Given the description of an element on the screen output the (x, y) to click on. 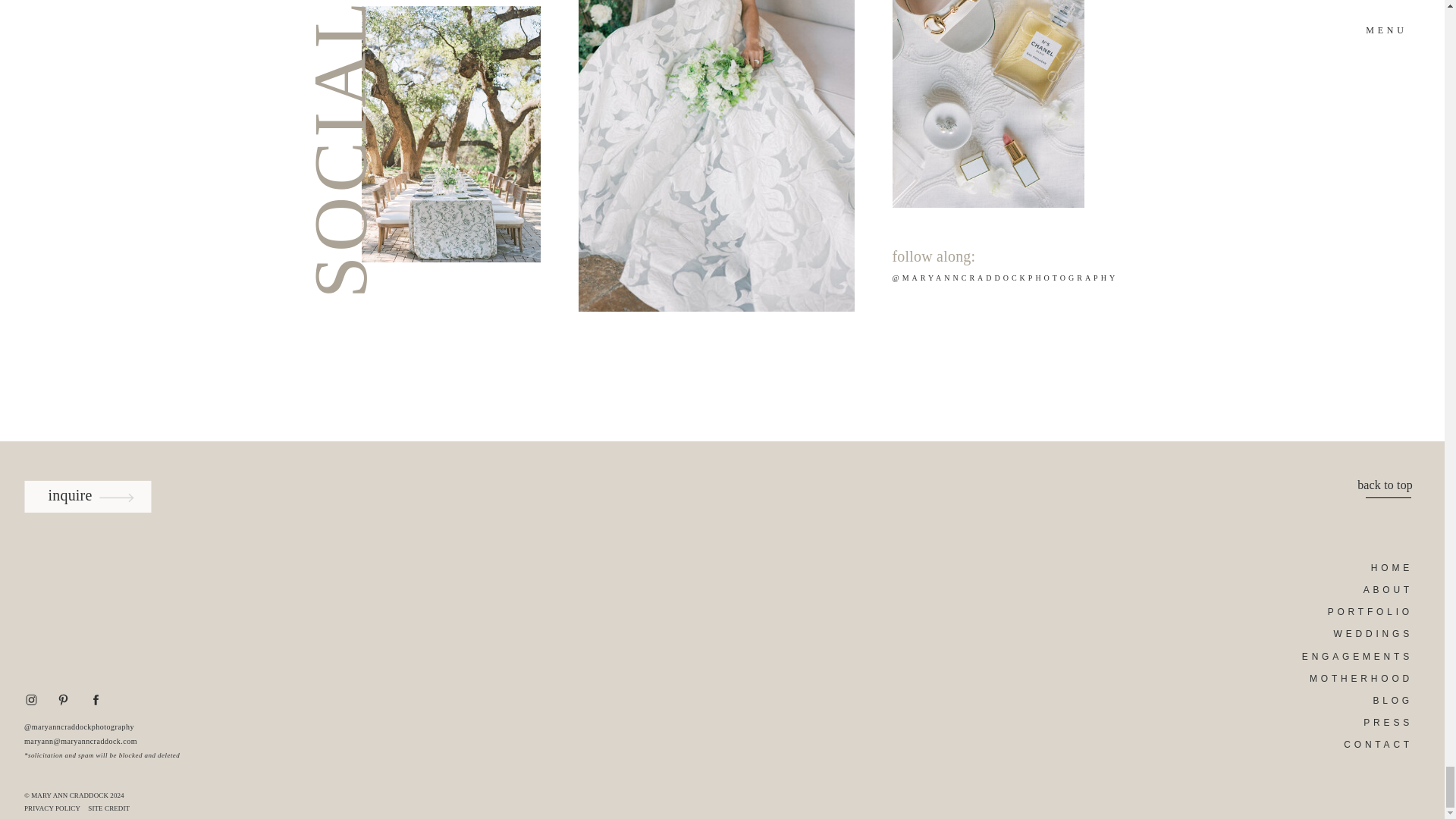
WEDDINGS (1359, 632)
back to top (1376, 483)
BLOG (1359, 698)
ABOUT (1359, 588)
inquire (69, 497)
CONTACT (1359, 743)
PRESS (1375, 721)
PORTFOLIO (1359, 610)
 SITE CREDIT (111, 808)
ENGAGEMENTS (1356, 655)
